Given the description of an element on the screen output the (x, y) to click on. 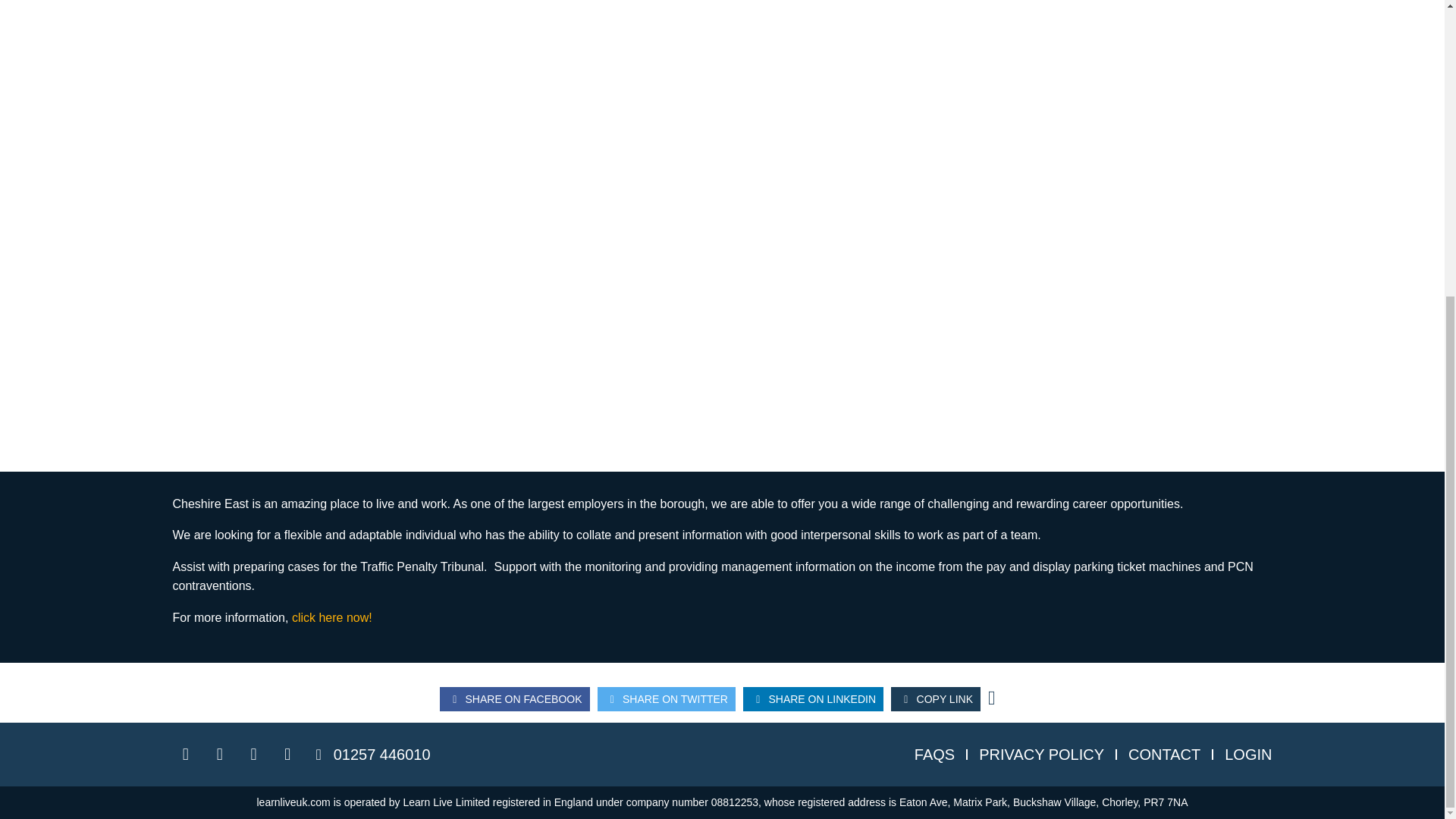
Like (996, 694)
COPY LINK (935, 699)
SHARE ON LINKEDIN (812, 699)
click here now!  (333, 617)
SHARE ON FACEBOOK (514, 699)
Share on Twitter (665, 699)
Share on Facebook (514, 699)
SHARE ON TWITTER (665, 699)
Share on LinkedIn (812, 699)
Copy link (935, 699)
